Given the description of an element on the screen output the (x, y) to click on. 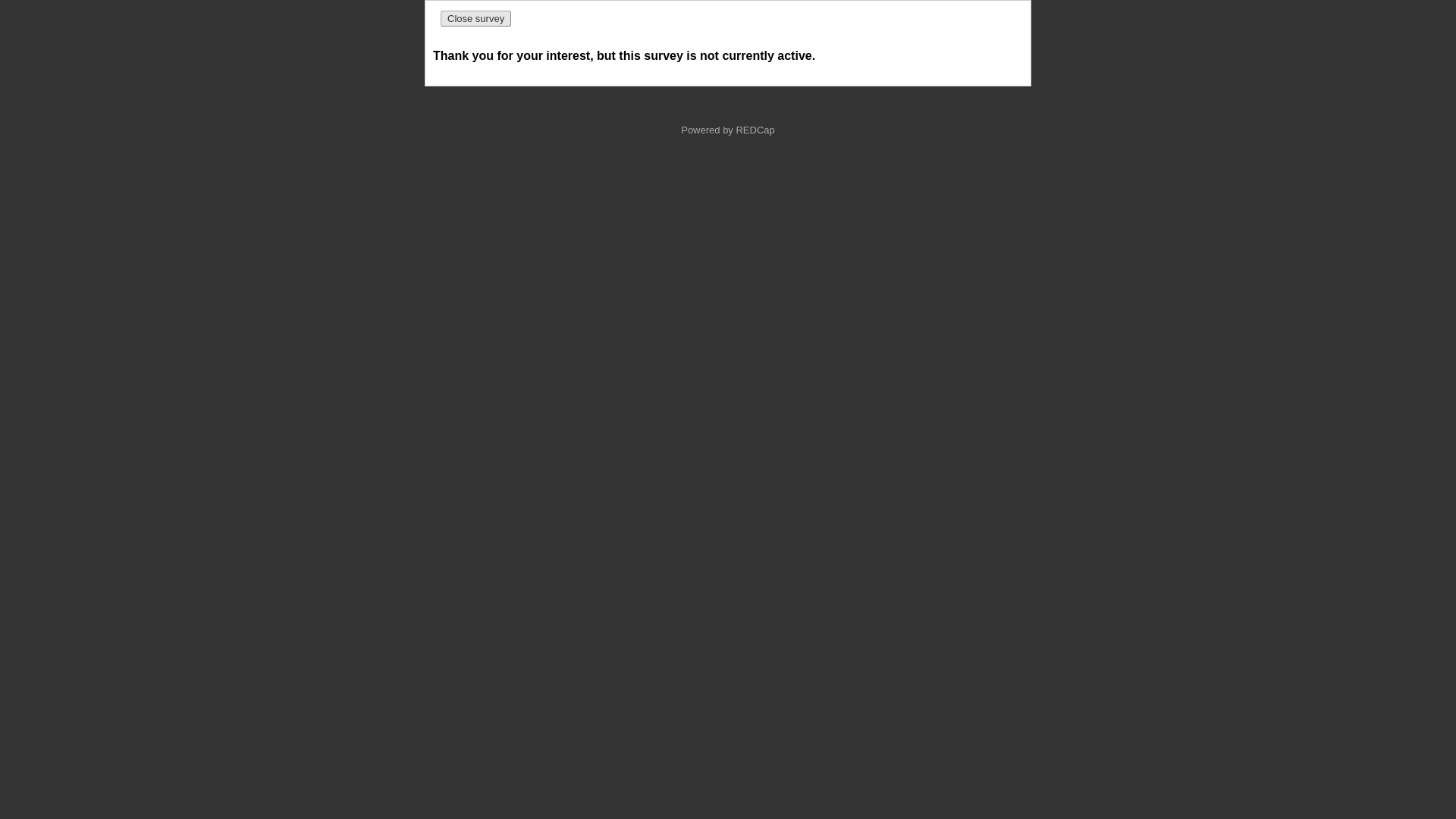
Close survey Element type: text (475, 18)
Powered by REDCap Element type: text (727, 129)
